Given the description of an element on the screen output the (x, y) to click on. 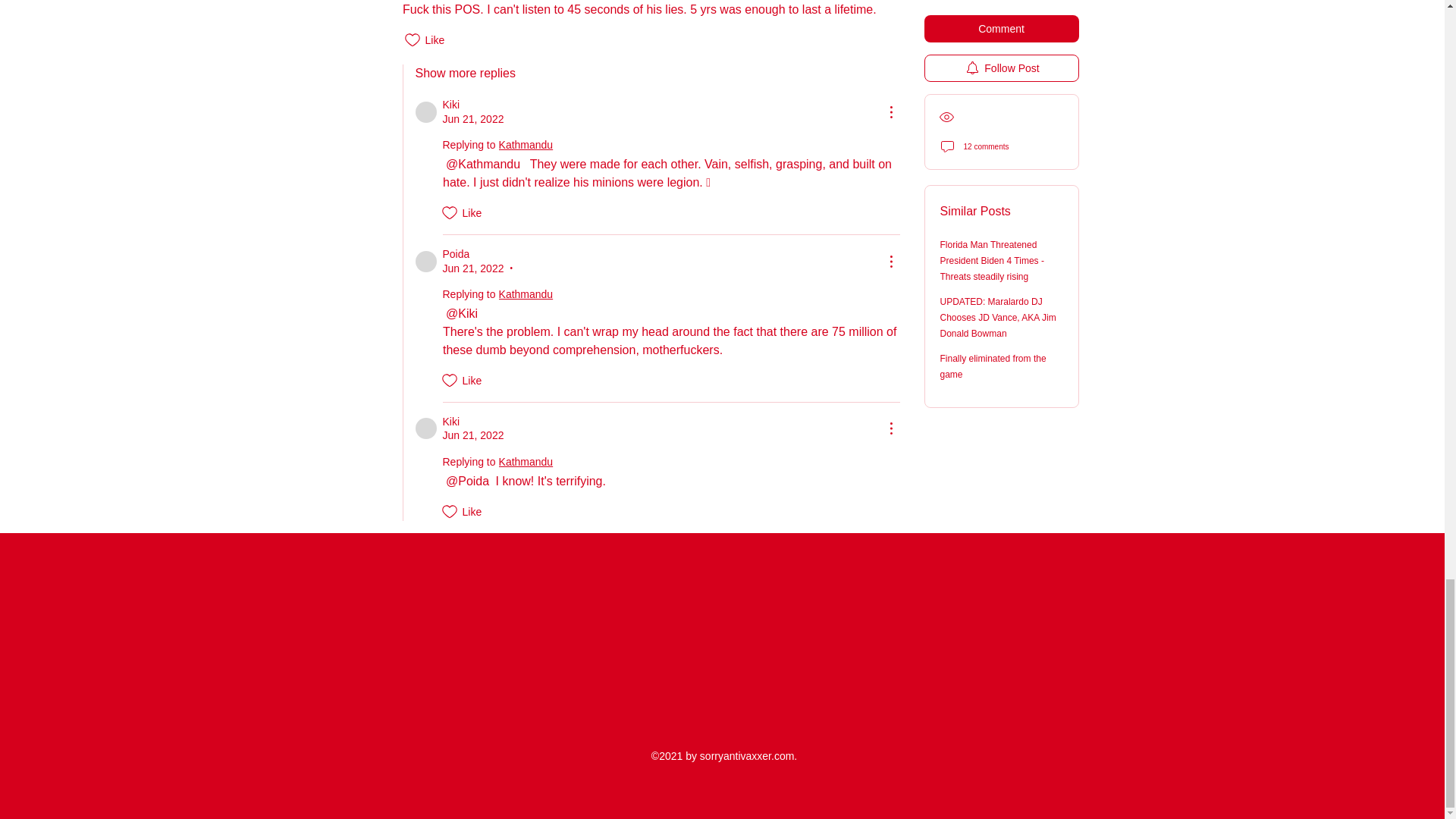
Kiki (425, 427)
Kiki (425, 111)
Poida (425, 260)
